Given the description of an element on the screen output the (x, y) to click on. 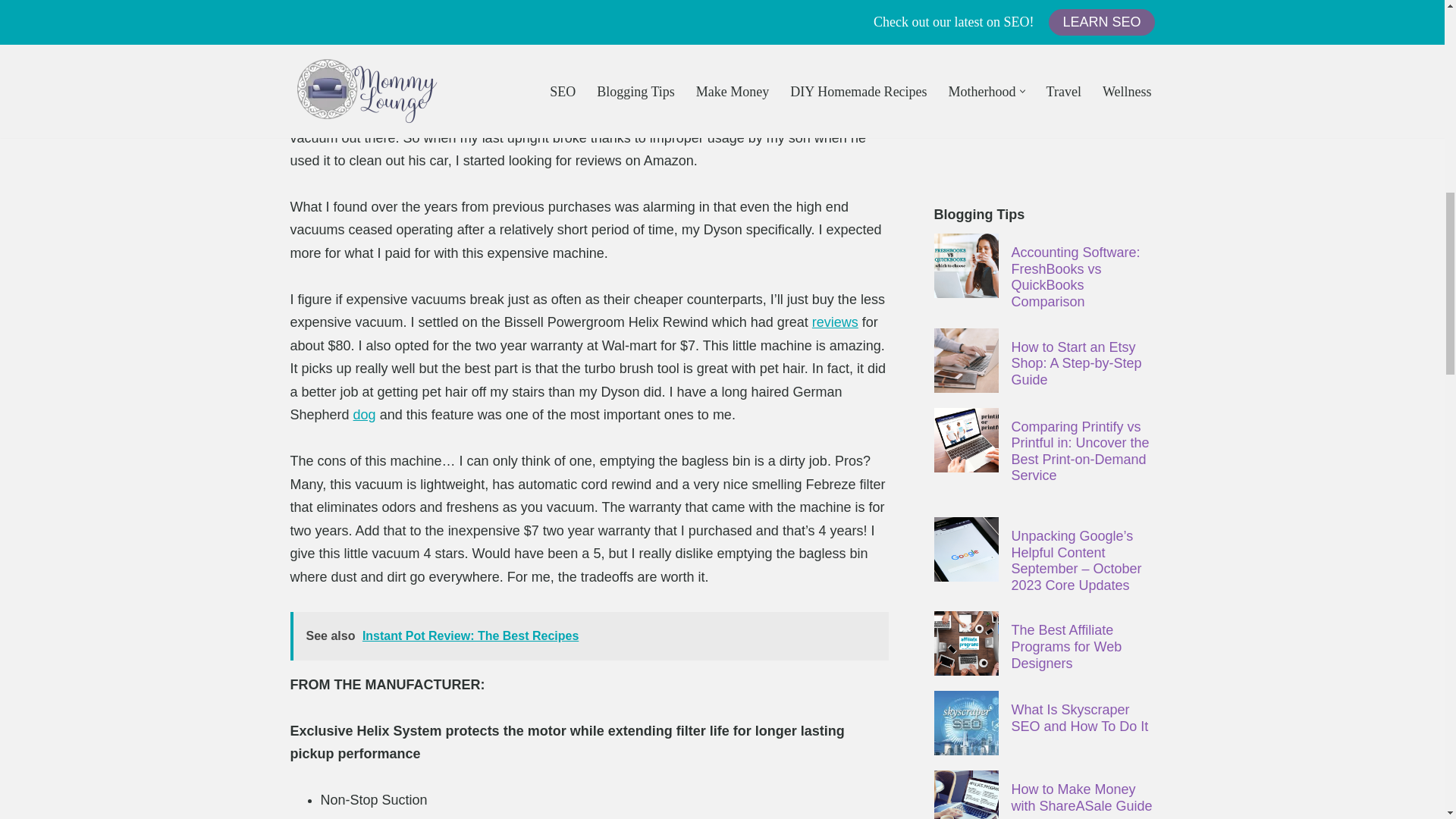
Accounting Software: FreshBooks vs QuickBooks Comparison (966, 265)
dog (364, 414)
How to Start an Etsy Shop: A Step-by-Step Guide (966, 360)
reviews (835, 322)
